Given the description of an element on the screen output the (x, y) to click on. 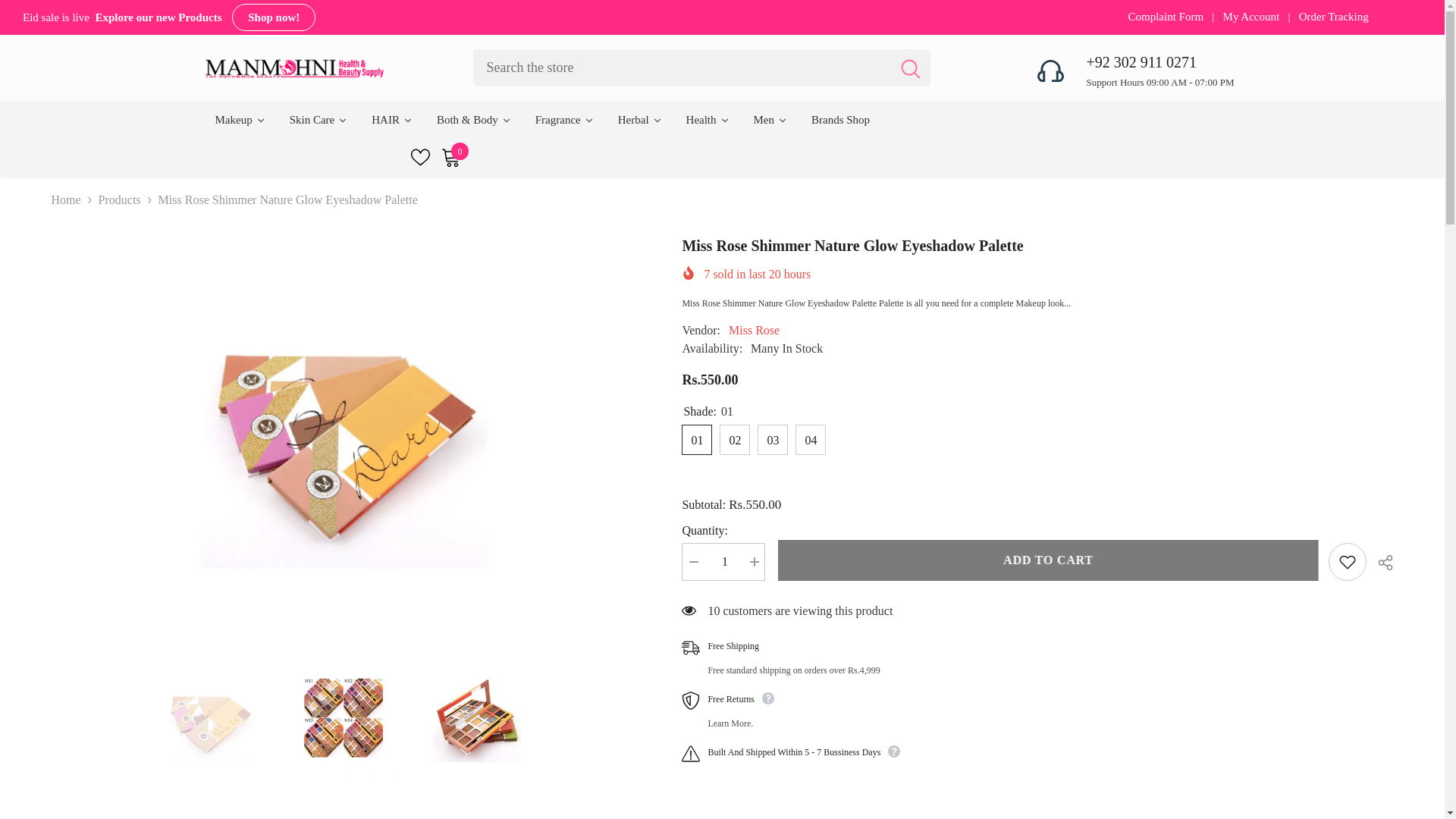
Home (65, 199)
Fragrance (563, 119)
Skin Care (318, 119)
Order Tracking (1333, 16)
My Account (1252, 16)
Men (770, 119)
Skin Care (318, 119)
Herbal (639, 119)
1 (723, 561)
HAIR (392, 119)
Health (707, 119)
Brands Shop (840, 119)
Brands Shop (840, 119)
Makeup (240, 119)
HAIR (392, 119)
